Given the description of an element on the screen output the (x, y) to click on. 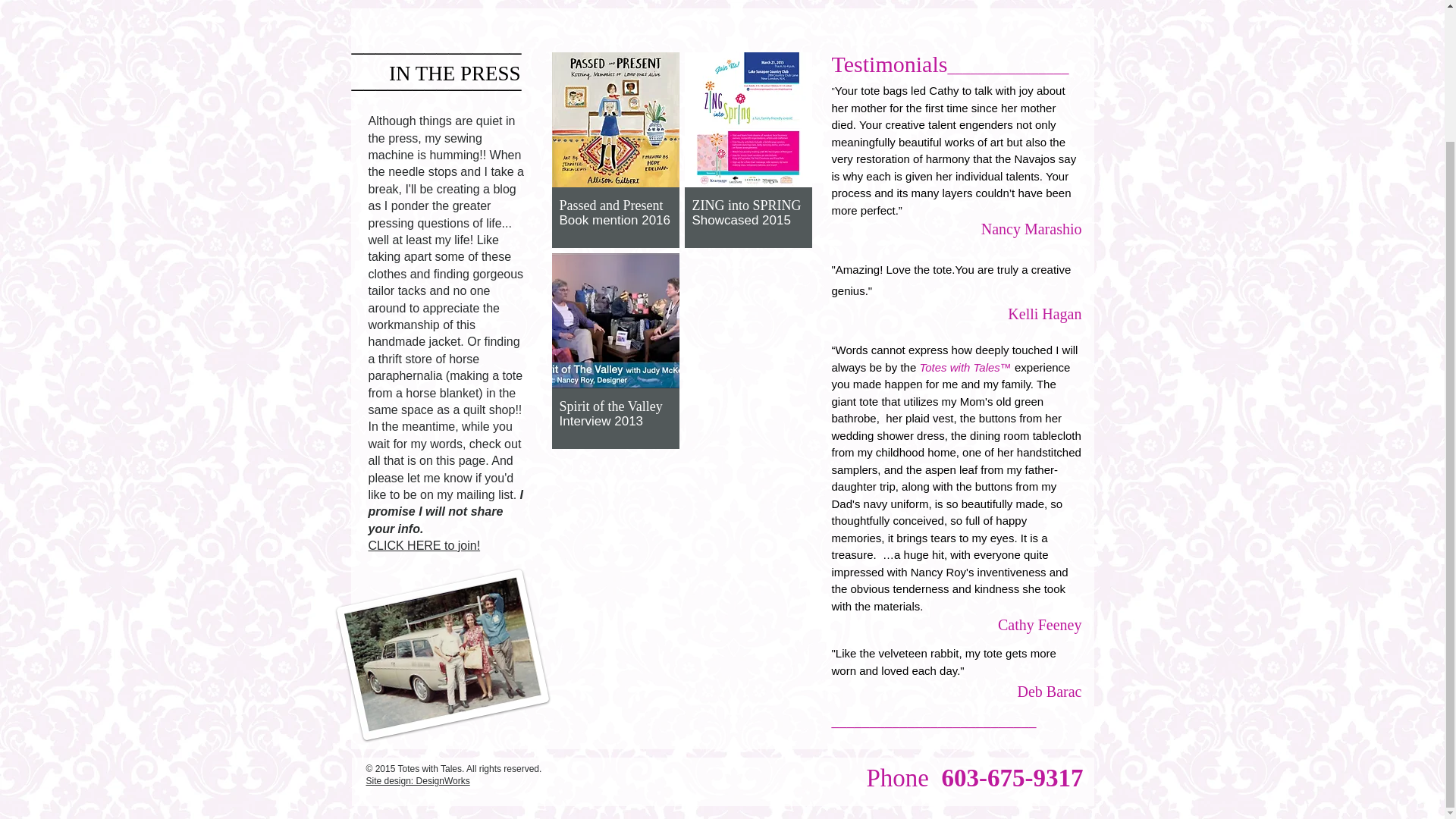
CLICK HERE to join! (424, 545)
Classic 1970's kids and car (430, 637)
Site design: DesignWorks (416, 780)
